Given the description of an element on the screen output the (x, y) to click on. 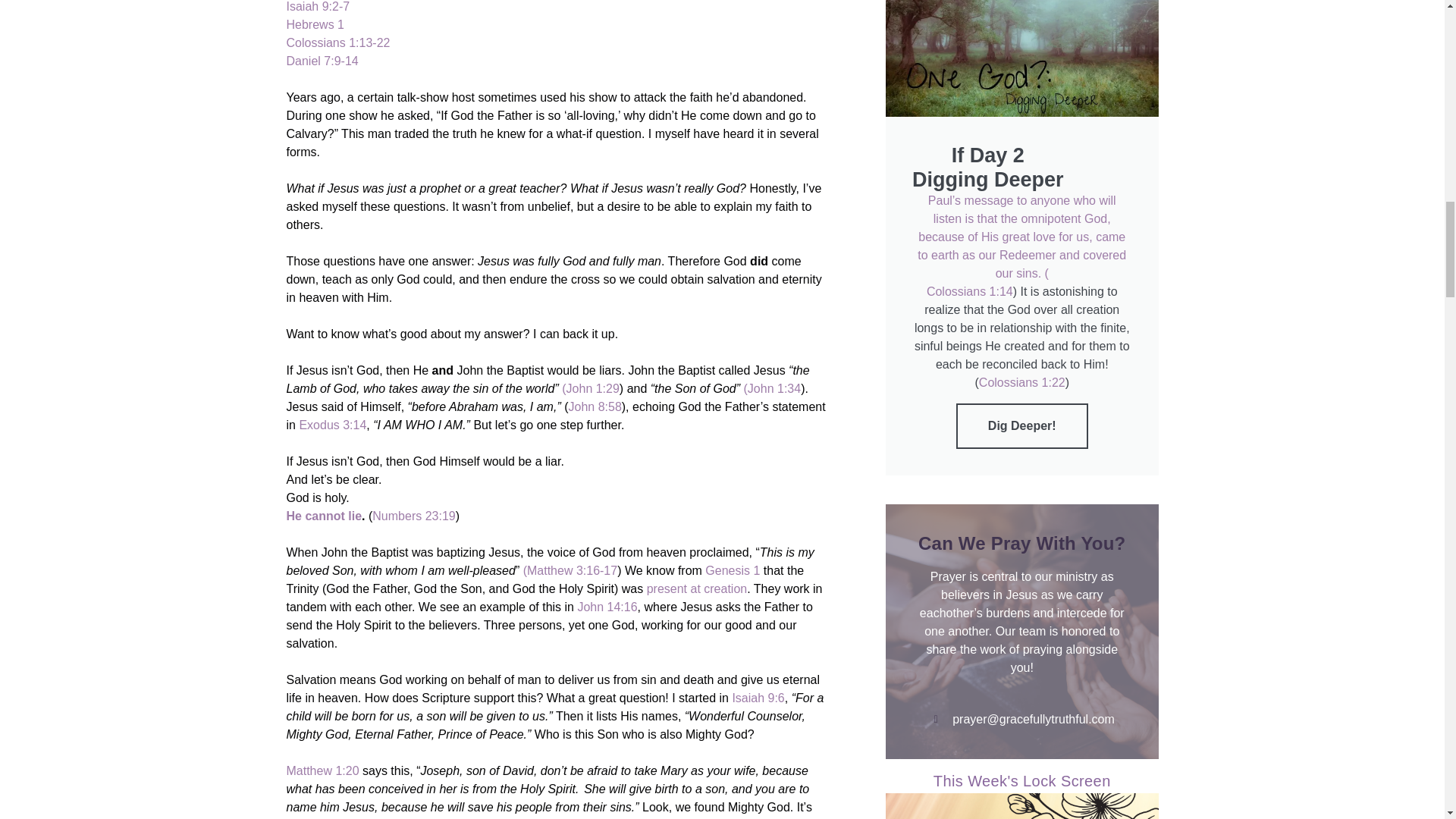
Hebrews 1 (314, 24)
John 1:29 (593, 388)
Isaiah 9:2-7 (318, 6)
Daniel 7:9-14 (322, 60)
Colossians 1:13-22 (338, 42)
